Given the description of an element on the screen output the (x, y) to click on. 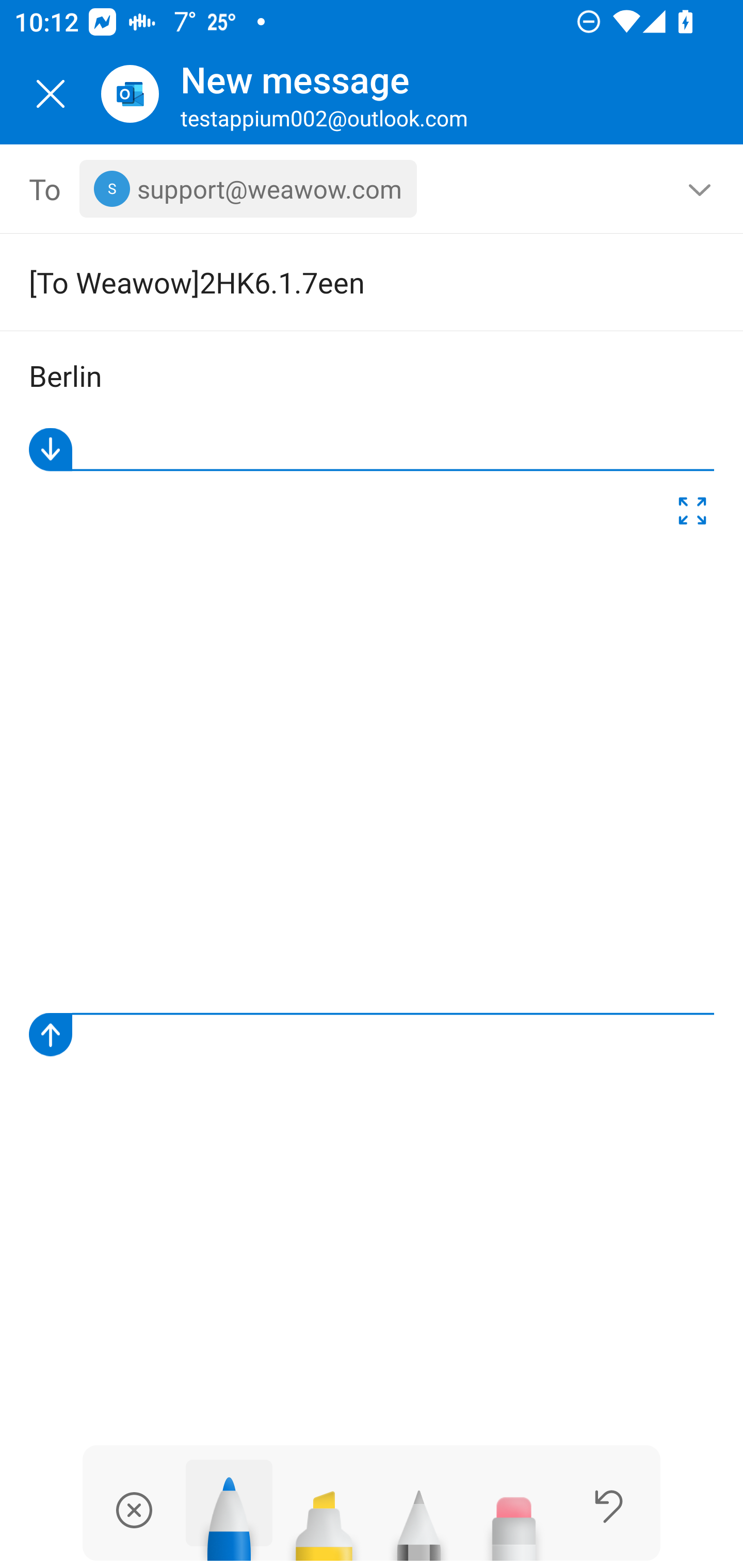
Close (50, 93)
[To Weawow]2HK6.1.7een (342, 281)
Berlin (372, 377)
Canvas upper bound (371, 449)
Expand Drawing (692, 514)
Canvas Lower Bound (371, 1034)
Pen tool (228, 1509)
Undo last stroke (608, 1505)
dismiss ink and save drawing (133, 1510)
Highlighter tool (323, 1517)
Pencil tool (418, 1517)
Eraser tool (513, 1517)
